Given the description of an element on the screen output the (x, y) to click on. 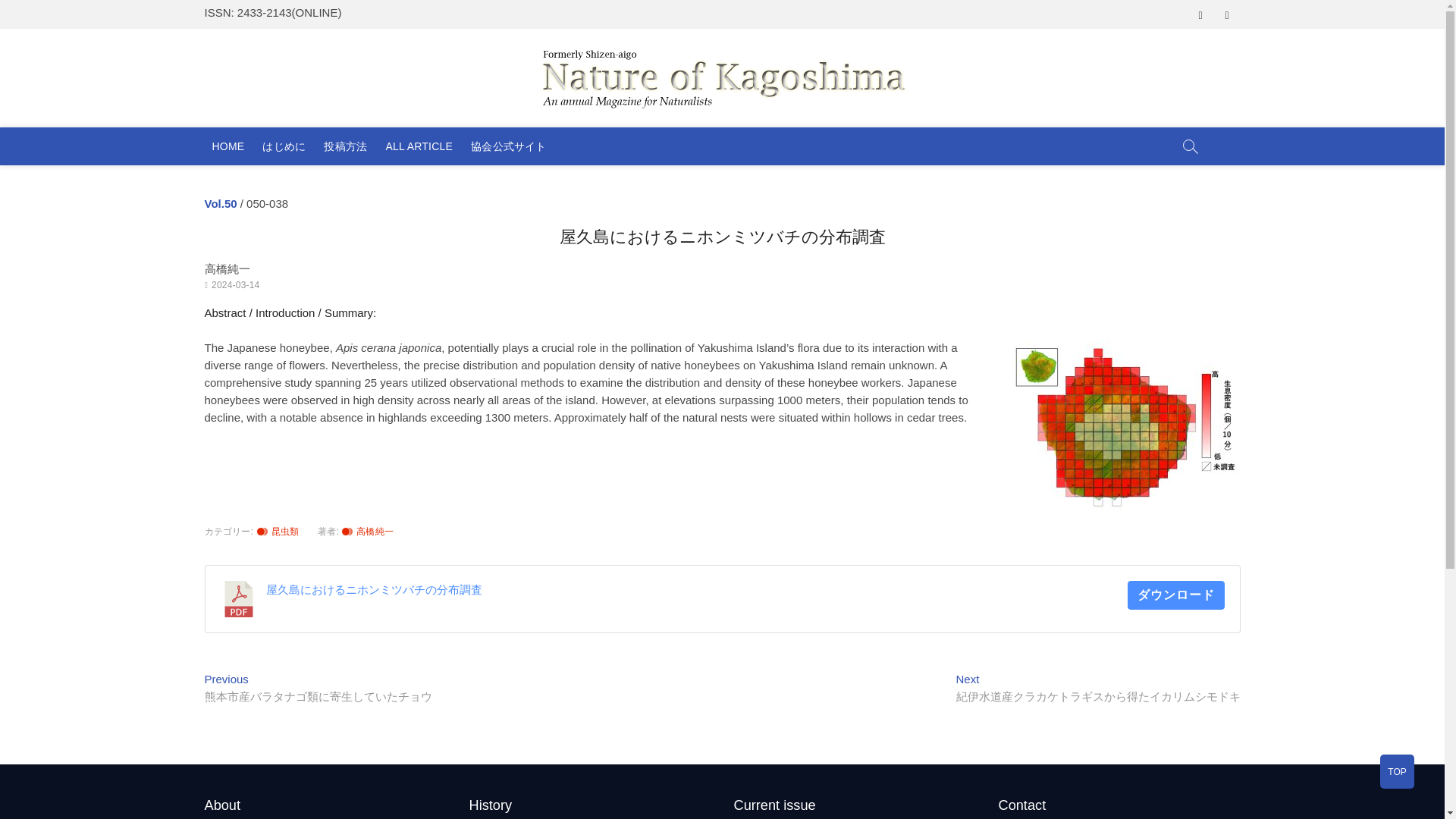
ALL ARTICLE (418, 146)
facebook (1201, 15)
twitter (1226, 15)
2024-03-14 (235, 285)
TOP (1396, 771)
2024-03-14 (235, 285)
HOME (228, 146)
Vol.50 (221, 203)
